Given the description of an element on the screen output the (x, y) to click on. 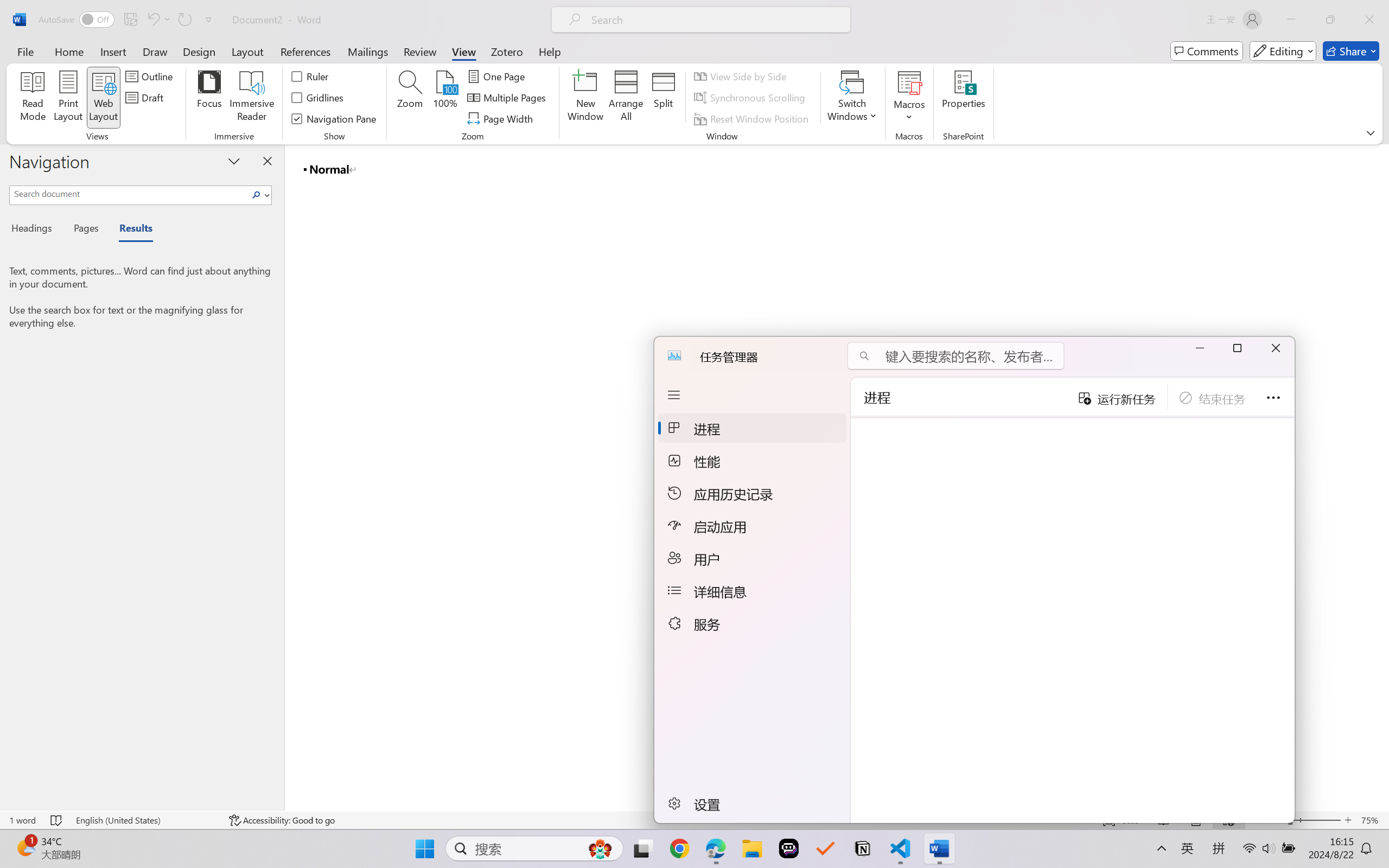
Zoom... (409, 97)
Class: MsoCommandBar (694, 72)
Poe (786, 848)
Outline (150, 75)
Language English (United States) (144, 819)
Navigation Pane (334, 118)
References (306, 51)
Accessibility Checker Accessibility: Good to go (282, 819)
Search document (128, 193)
Draft (146, 97)
